Given the description of an element on the screen output the (x, y) to click on. 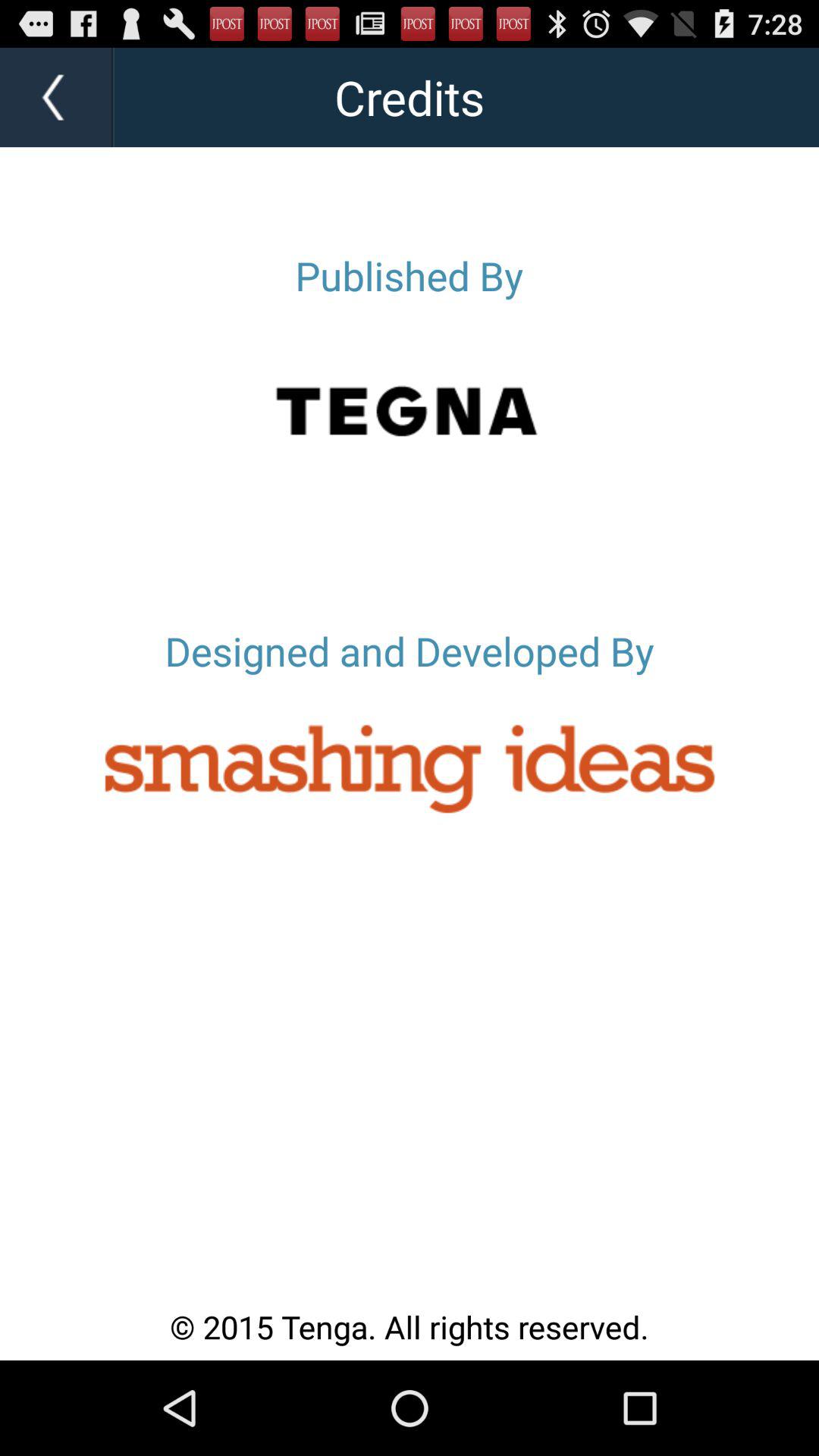
previous button (57, 97)
